Given the description of an element on the screen output the (x, y) to click on. 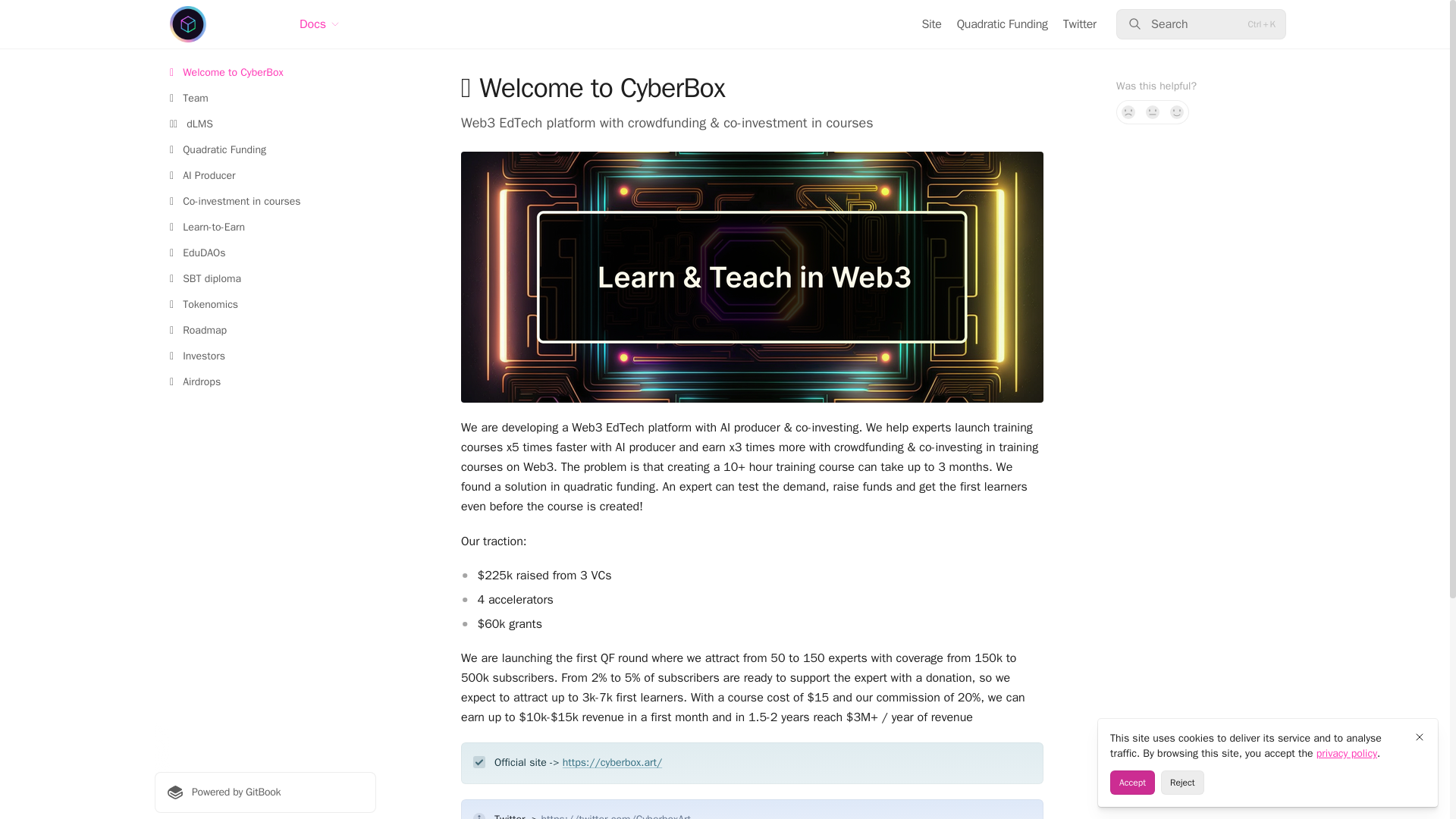
Powered by GitBook (264, 792)
Not sure (1152, 111)
Yes, it was! (1176, 111)
No (1128, 111)
Close (1419, 737)
Quadratic Funding (1002, 24)
